Given the description of an element on the screen output the (x, y) to click on. 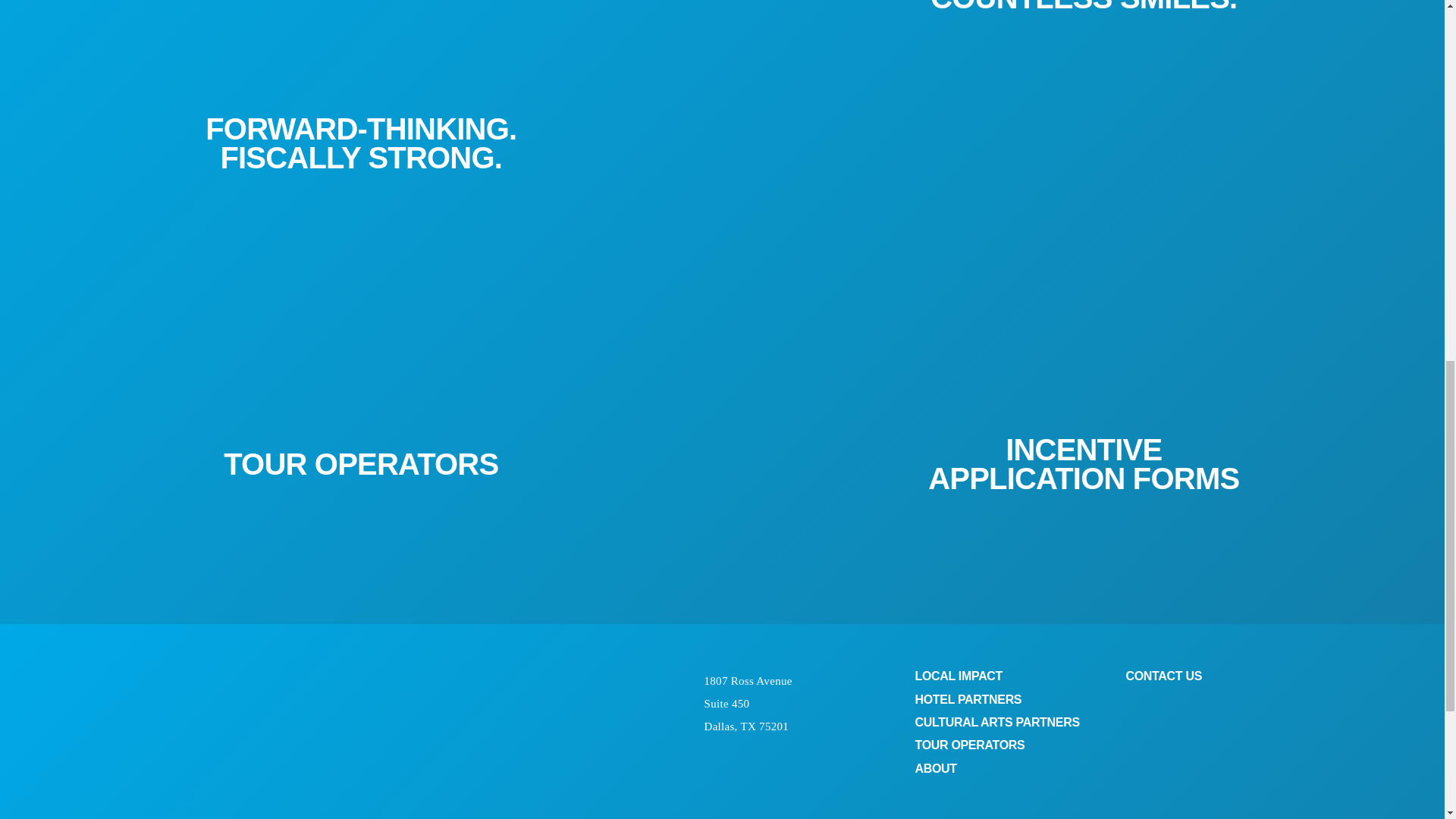
CULTURAL ARTS PARTNERS (996, 721)
ABOUT (935, 768)
HOTEL PARTNERS (968, 698)
CONTACT US (1163, 675)
LOCAL IMPACT (958, 675)
TOUR OPERATORS (969, 744)
